Given the description of an element on the screen output the (x, y) to click on. 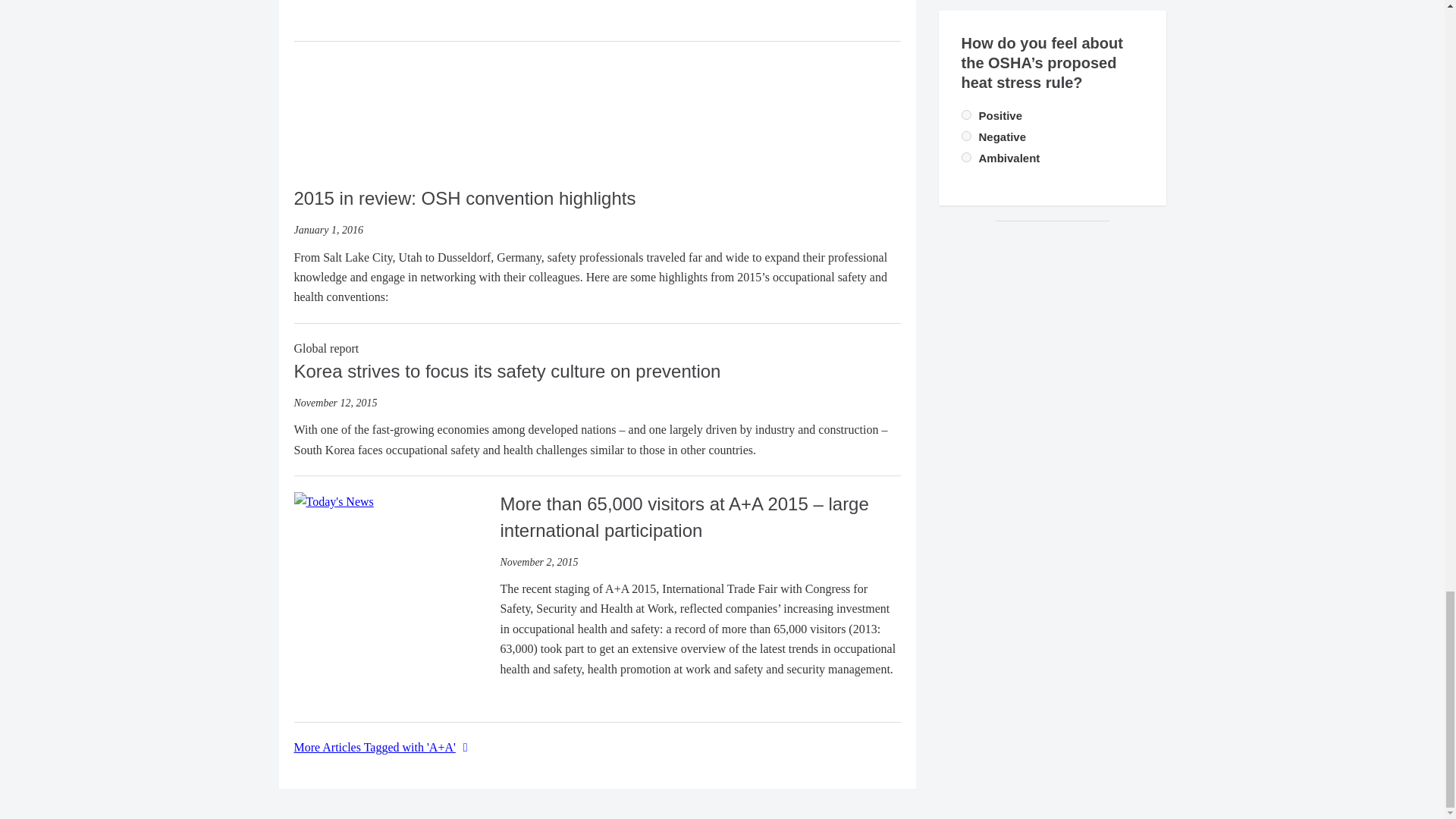
143 (965, 135)
142 (965, 114)
144 (965, 157)
